Given the description of an element on the screen output the (x, y) to click on. 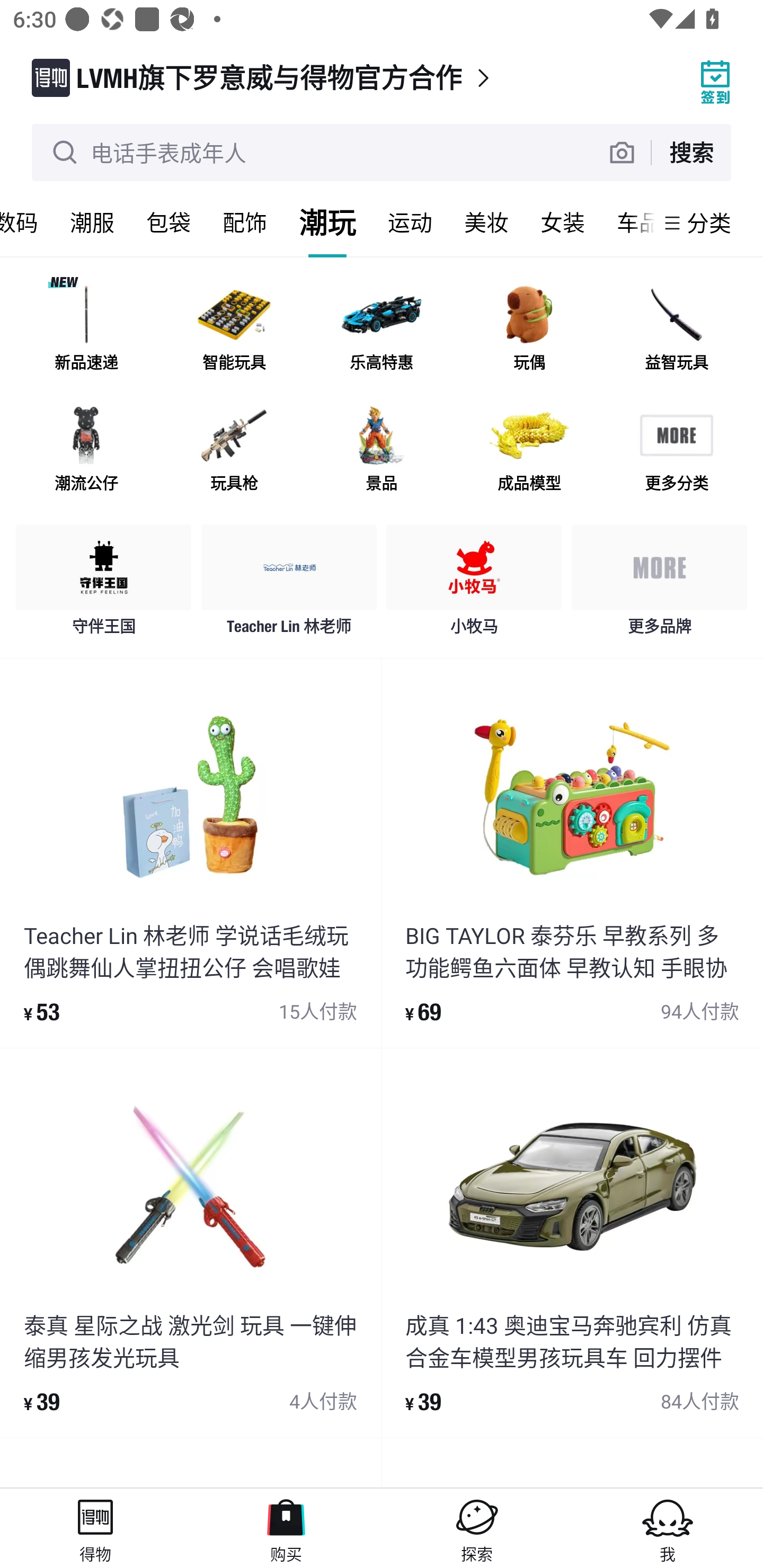
搜索 (690, 152)
数码 (27, 222)
潮服 (92, 222)
包袋 (168, 222)
配饰 (244, 222)
潮玩 (327, 222)
运动 (410, 222)
美妆 (486, 222)
女装 (562, 222)
车品 (627, 222)
分类 (708, 222)
新品速递 (86, 329)
智能玩具 (233, 329)
乐高特惠 (381, 329)
玩偶 (528, 329)
益智玩具 (676, 329)
潮流公仔 (86, 450)
玩具枪 (233, 450)
景品 (381, 450)
成品模型 (528, 450)
更多分类 (676, 450)
守伴王国 (103, 583)
Teacher Lin 林老师 (288, 583)
小牧马 (473, 583)
更多品牌 (658, 583)
product_item 泰真 星际之战 激光剑 玩具 一键伸
缩男孩发光玩具 ¥ 39 4人付款 (190, 1242)
得物 (95, 1528)
购买 (285, 1528)
探索 (476, 1528)
我 (667, 1528)
